Given the description of an element on the screen output the (x, y) to click on. 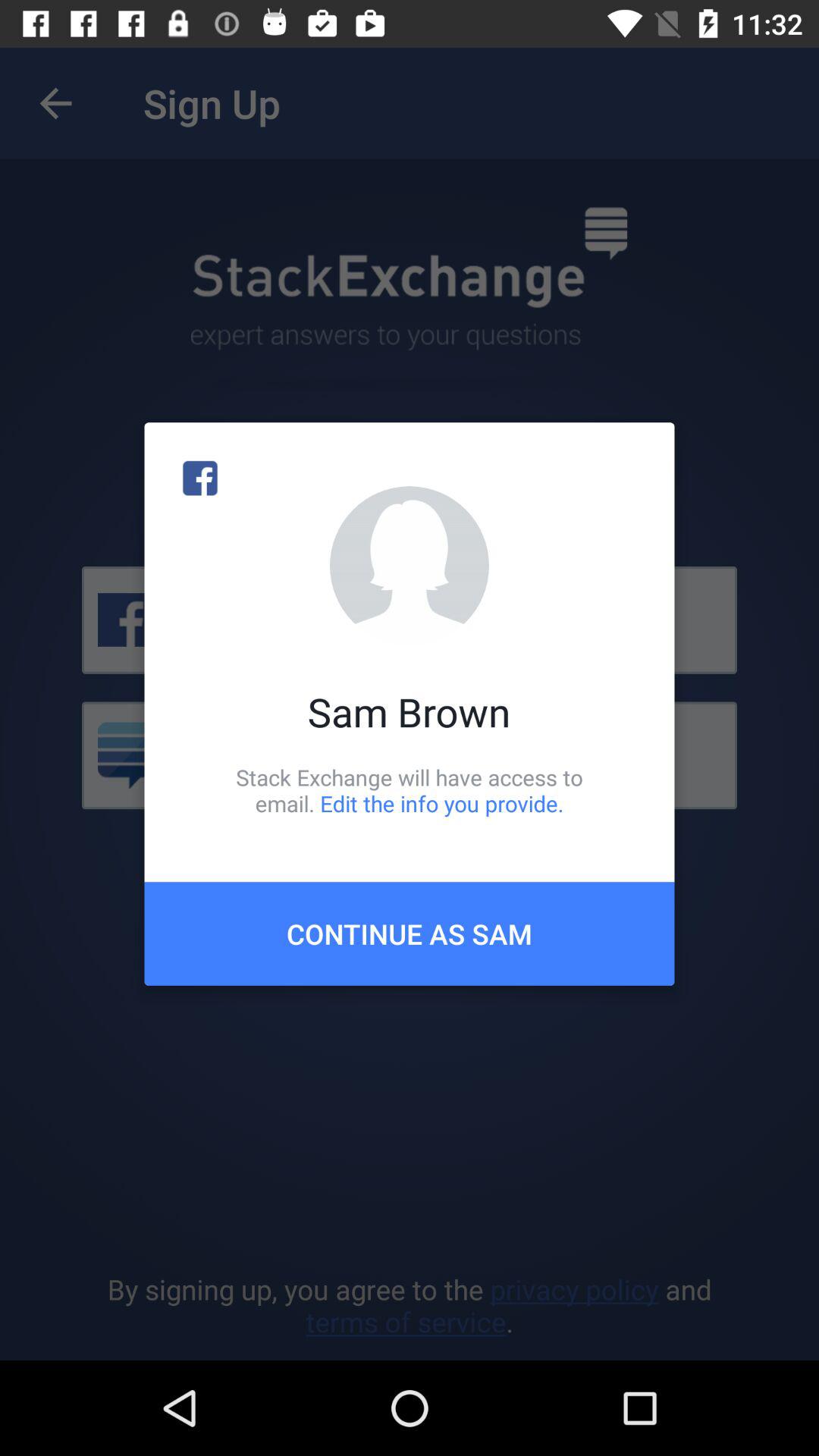
click continue as sam item (409, 933)
